Given the description of an element on the screen output the (x, y) to click on. 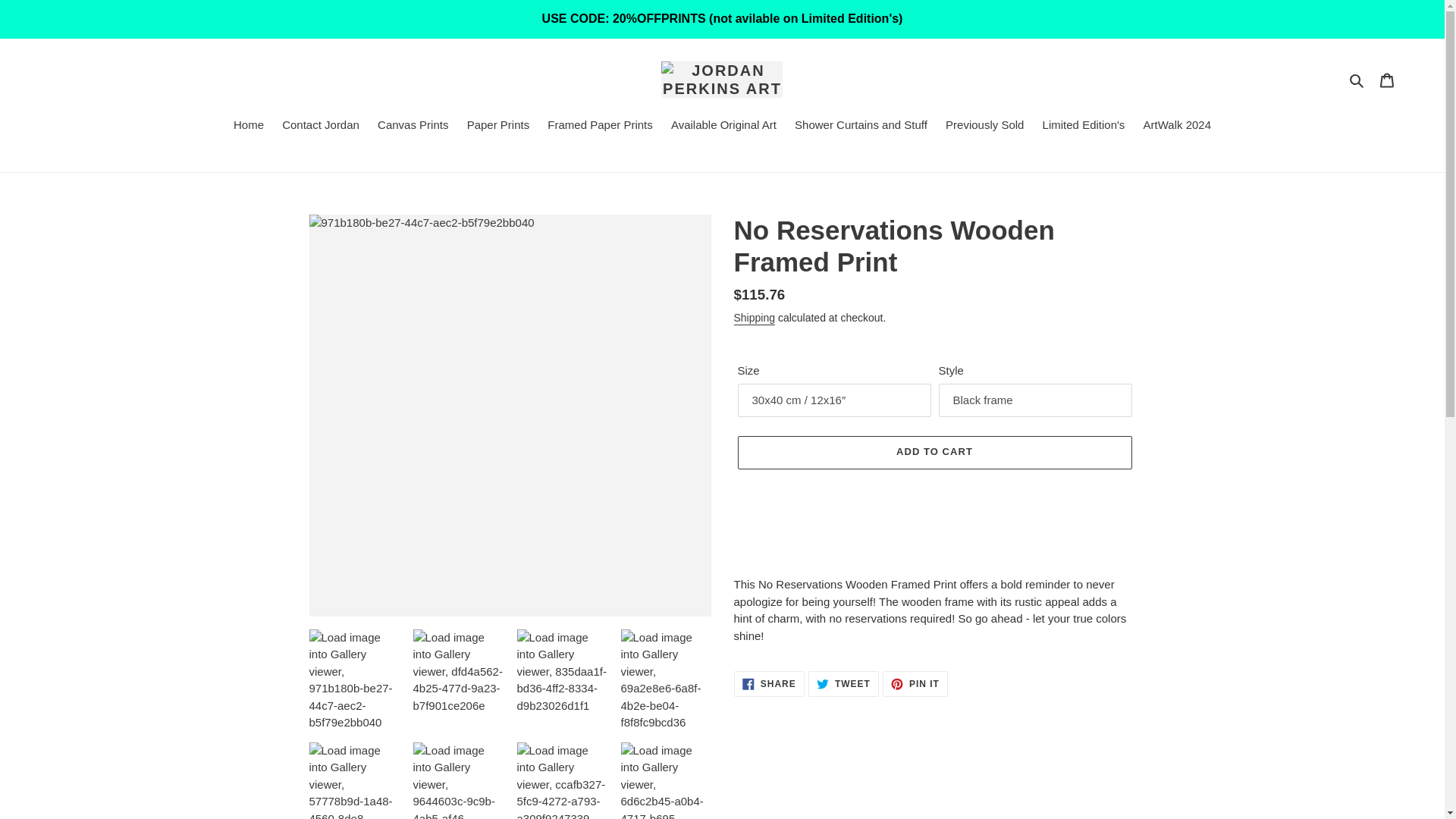
Contact Jordan (320, 126)
Framed Paper Prints (599, 126)
Previously Sold (983, 126)
Canvas Prints (412, 126)
Available Original Art (723, 126)
ArtWalk 2024 (1176, 126)
Cart (1387, 79)
Search (1357, 79)
Home (247, 126)
Limited Edition's (1083, 126)
